Given the description of an element on the screen output the (x, y) to click on. 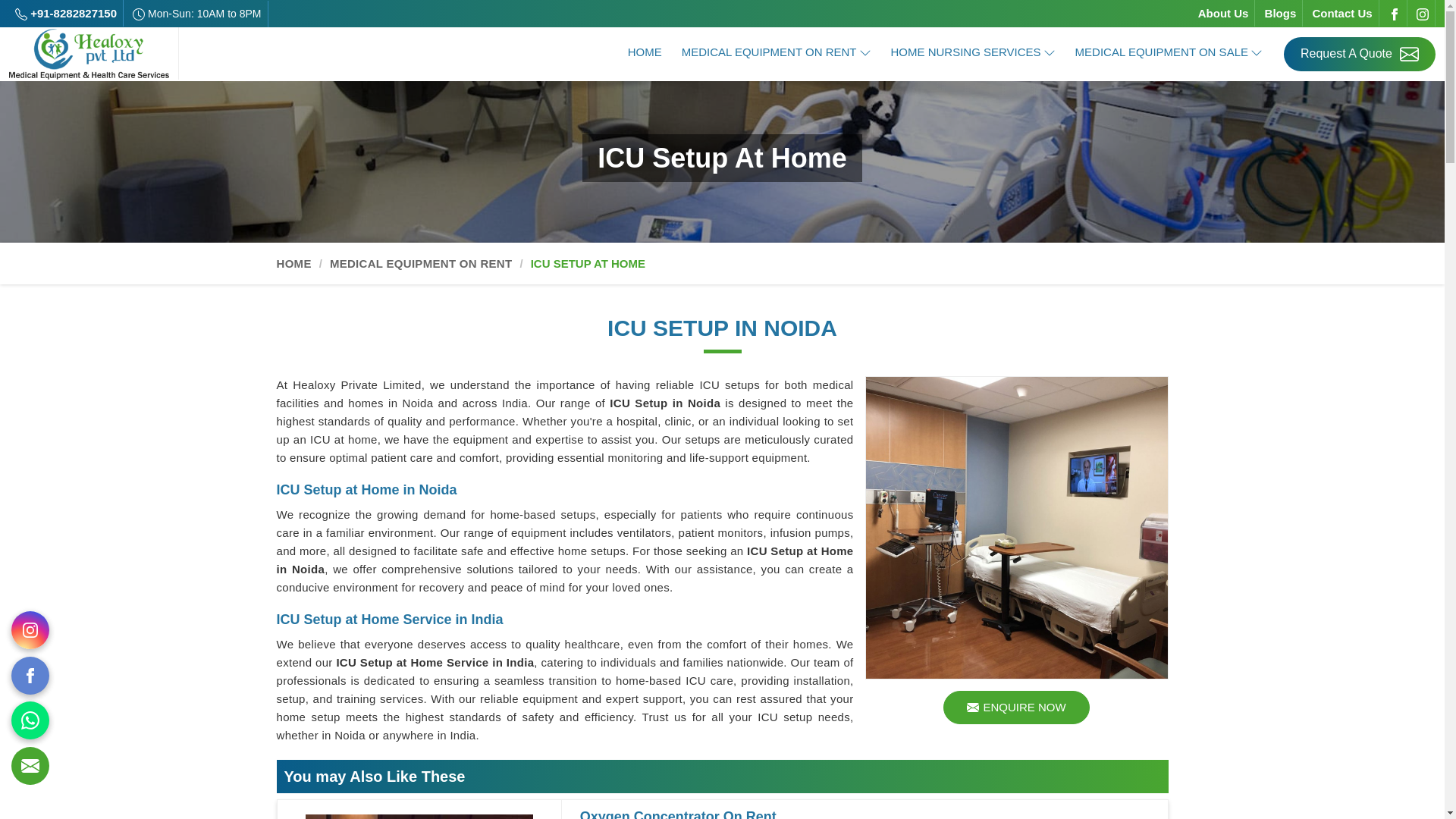
Blogs (1281, 13)
Healoxy Private Limited (88, 53)
HOME NURSING SERVICES (972, 54)
Contact Us (1341, 13)
Contact Us (1341, 13)
About Us (1223, 13)
Medical Equipment On Rent (775, 54)
MEDICAL EQUIPMENT ON RENT (775, 54)
Blogs (1281, 13)
HOME (644, 54)
MEDICAL EQUIPMENT ON SALE (1168, 54)
Home (644, 54)
About Us (1223, 13)
